Given the description of an element on the screen output the (x, y) to click on. 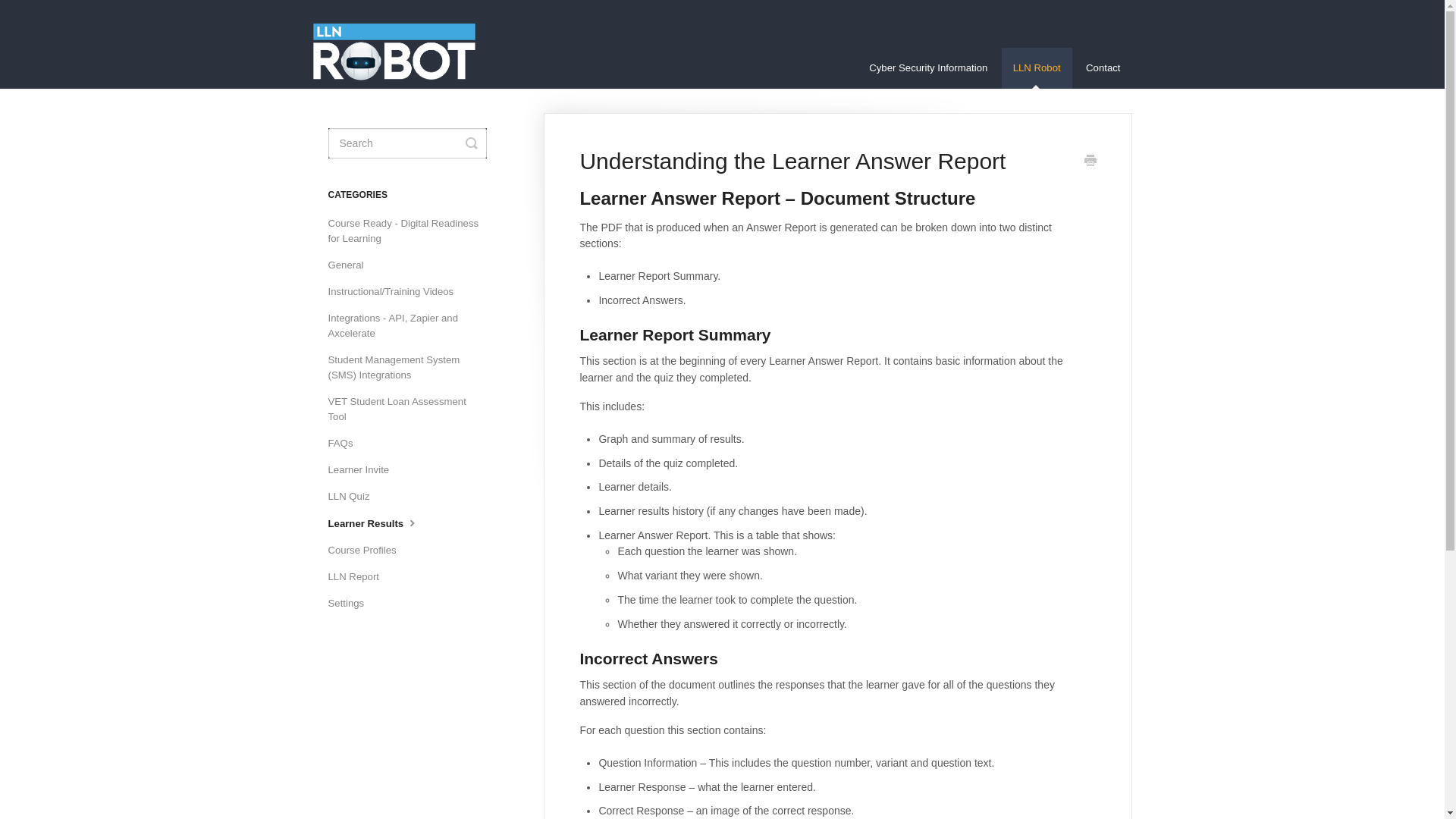
Course Ready - Digital Readiness for Learning (412, 230)
Integrations - API, Zapier and Axcelerate (412, 325)
Cyber Security Information (927, 67)
Print this article (1090, 161)
Course Profiles (367, 550)
Toggle Search (471, 142)
Contact (1102, 67)
Learner Results (378, 523)
Settings (351, 603)
Learner Invite (363, 469)
General (350, 265)
VET Student Loan Assessment Tool (412, 409)
FAQs (345, 443)
search-query (406, 142)
LLN Report (358, 576)
